Given the description of an element on the screen output the (x, y) to click on. 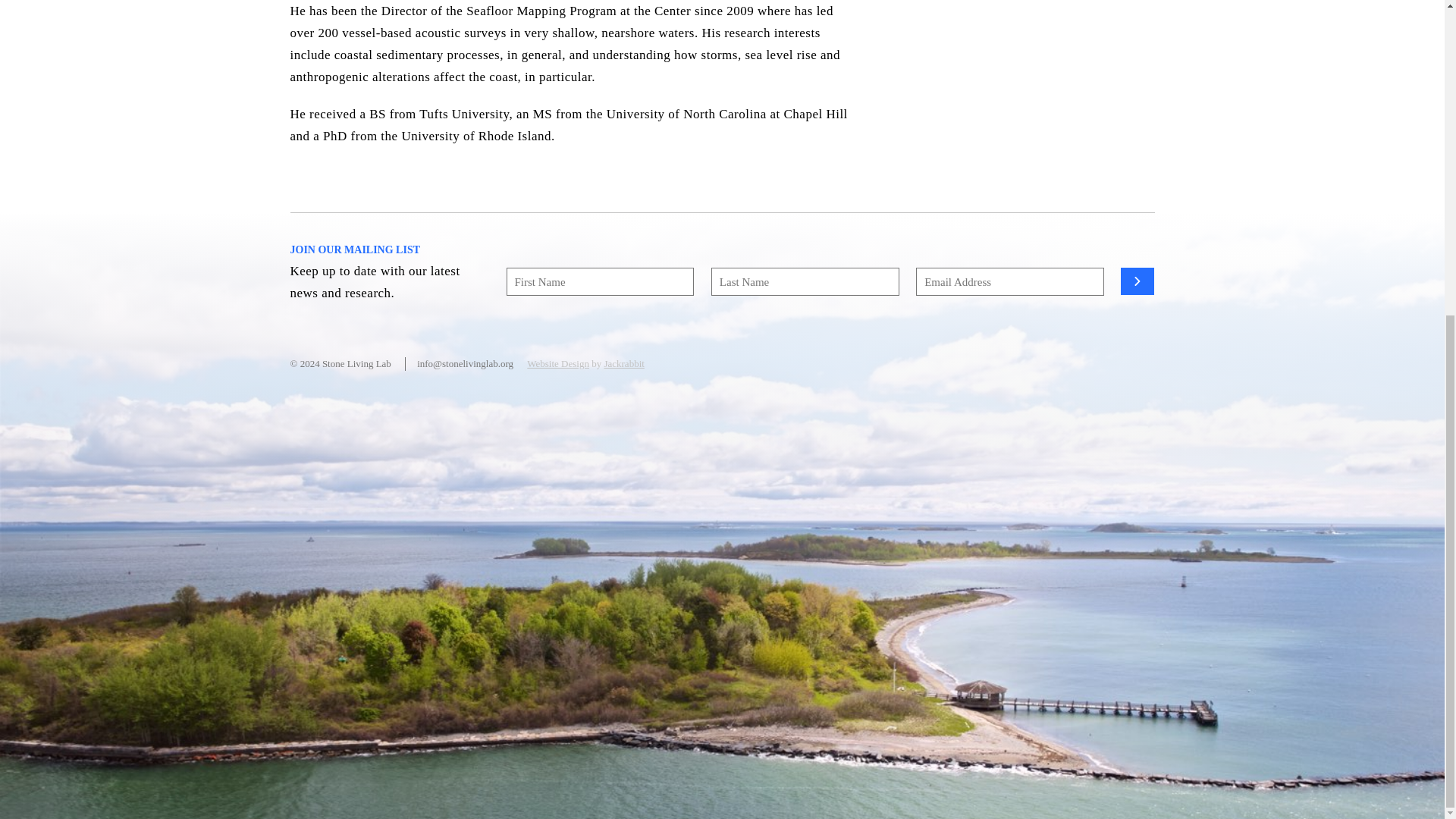
Last Name (805, 281)
Email Address (1009, 281)
First Name (600, 281)
Website Design (558, 363)
Jackrabbit (623, 363)
Website Design by Jackrabbit (558, 363)
Website Design by Jackrabbit (623, 363)
